Given the description of an element on the screen output the (x, y) to click on. 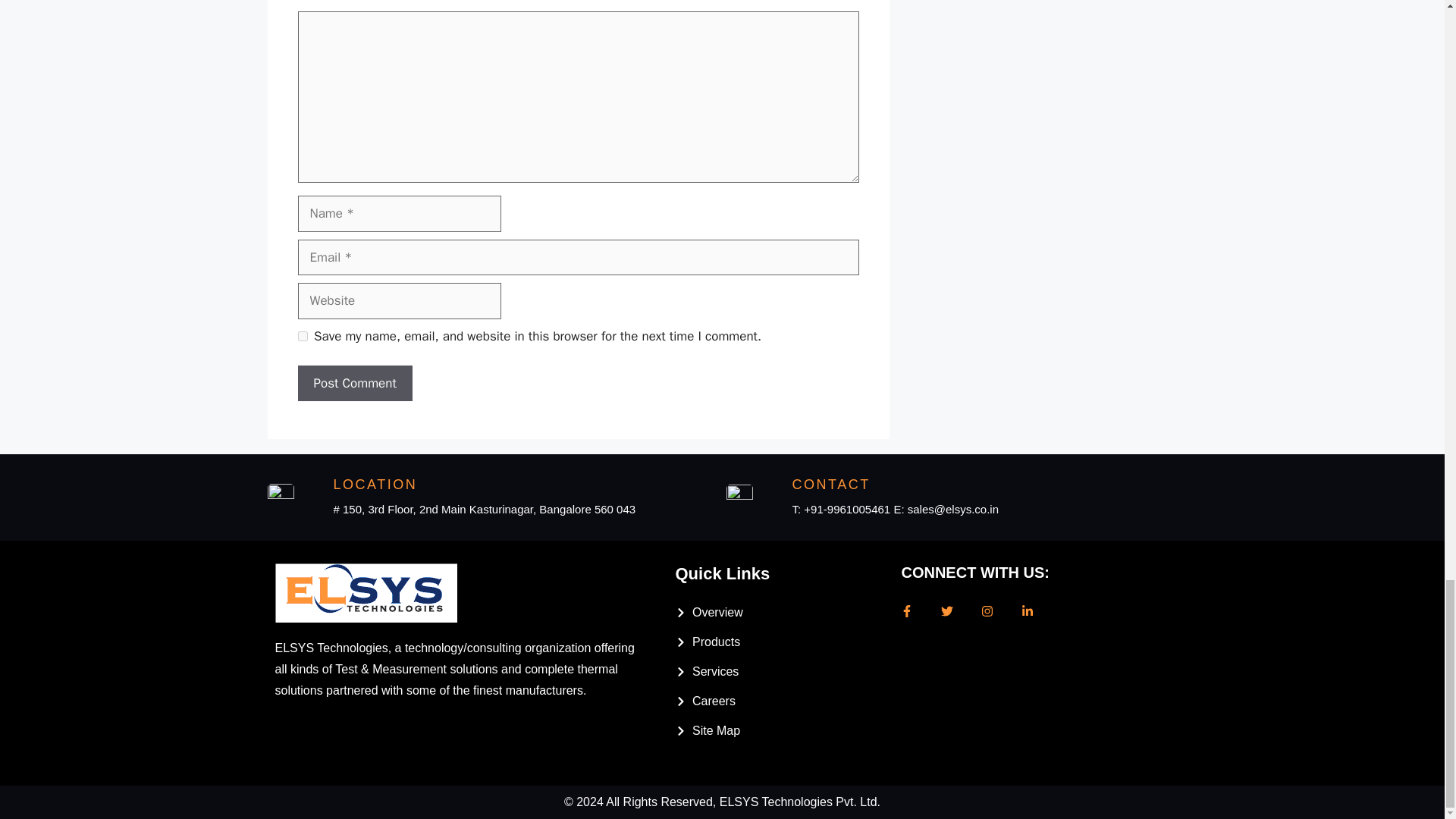
yes (302, 336)
Post Comment (354, 383)
